Given the description of an element on the screen output the (x, y) to click on. 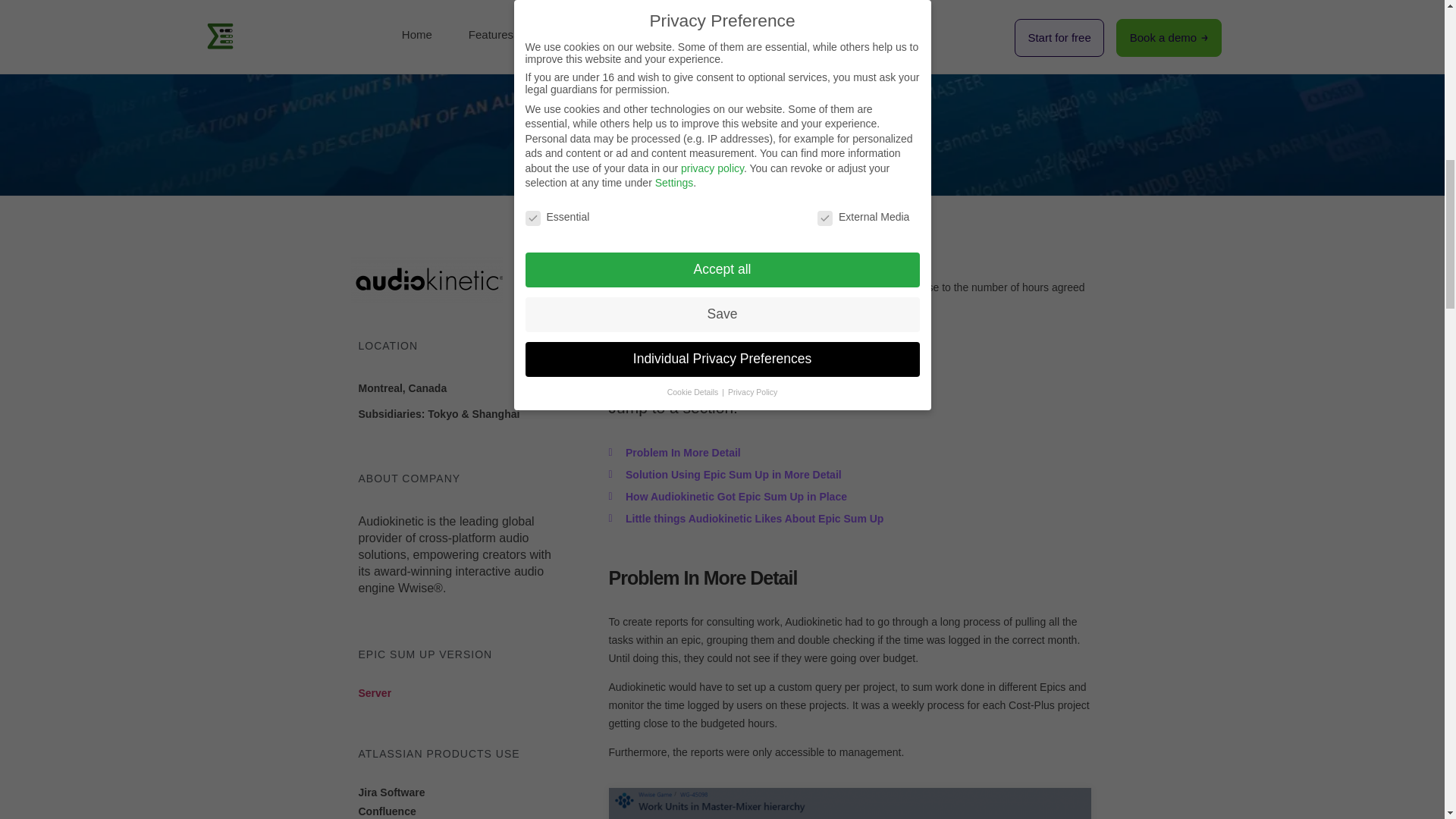
Solution Using Epic Sum Up in More Detail (849, 475)
Server (374, 693)
Logo-Audiokinetic (426, 280)
How Audiokinetic Got Epic Sum Up in Place (849, 496)
Little things Audiokinetic Likes About Epic Sum Up (849, 518)
Problem In More Detail (849, 452)
